Given the description of an element on the screen output the (x, y) to click on. 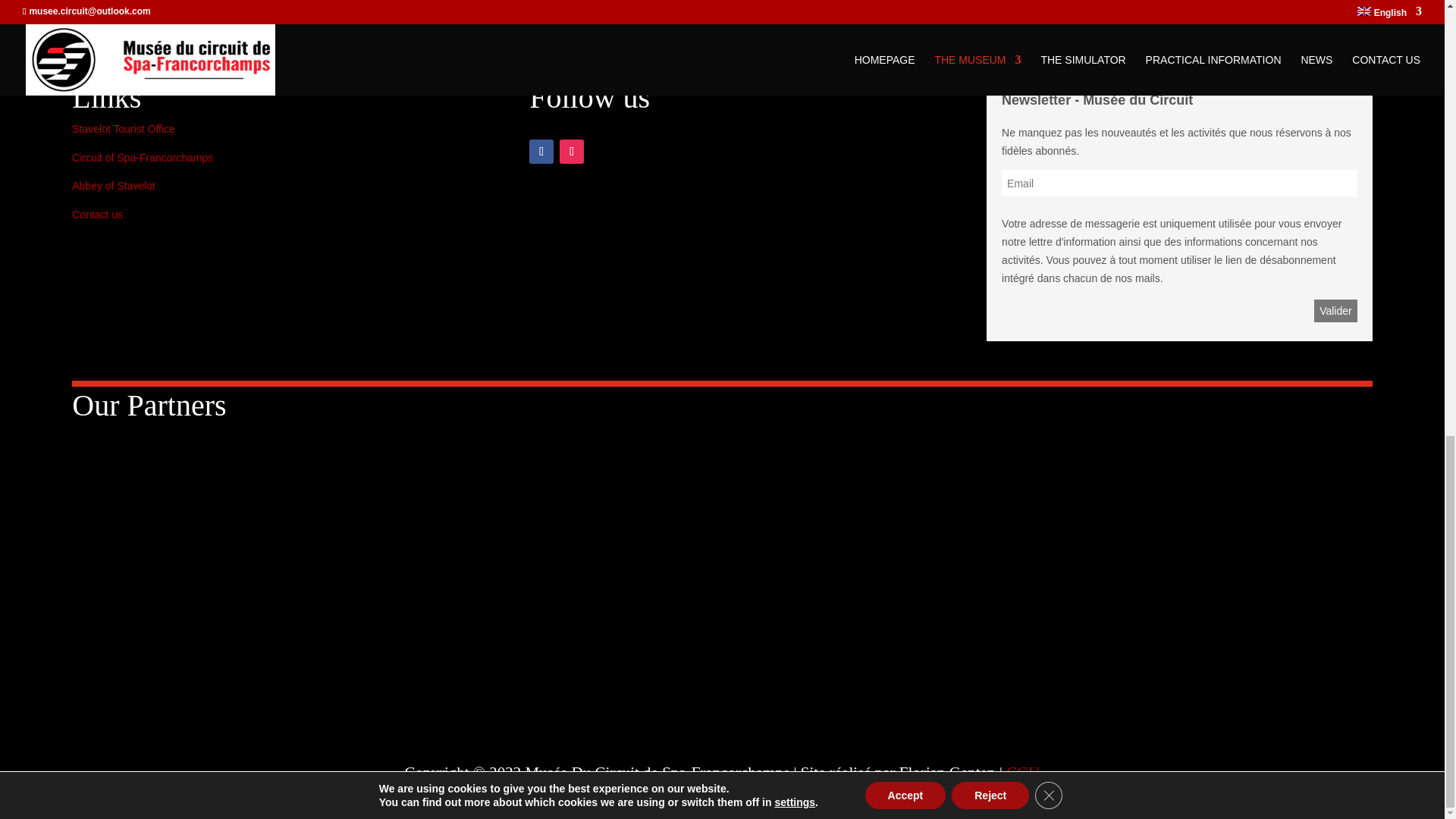
Follow on Facebook (541, 151)
Follow on Instagram (571, 151)
CGU (1022, 772)
Circuit of Spa-Francorchamps (141, 157)
Valider (1335, 310)
Valider (1335, 310)
Contact us (96, 214)
Stavelot Tourist Office (122, 128)
Abbey of Stavelot (113, 185)
